Given the description of an element on the screen output the (x, y) to click on. 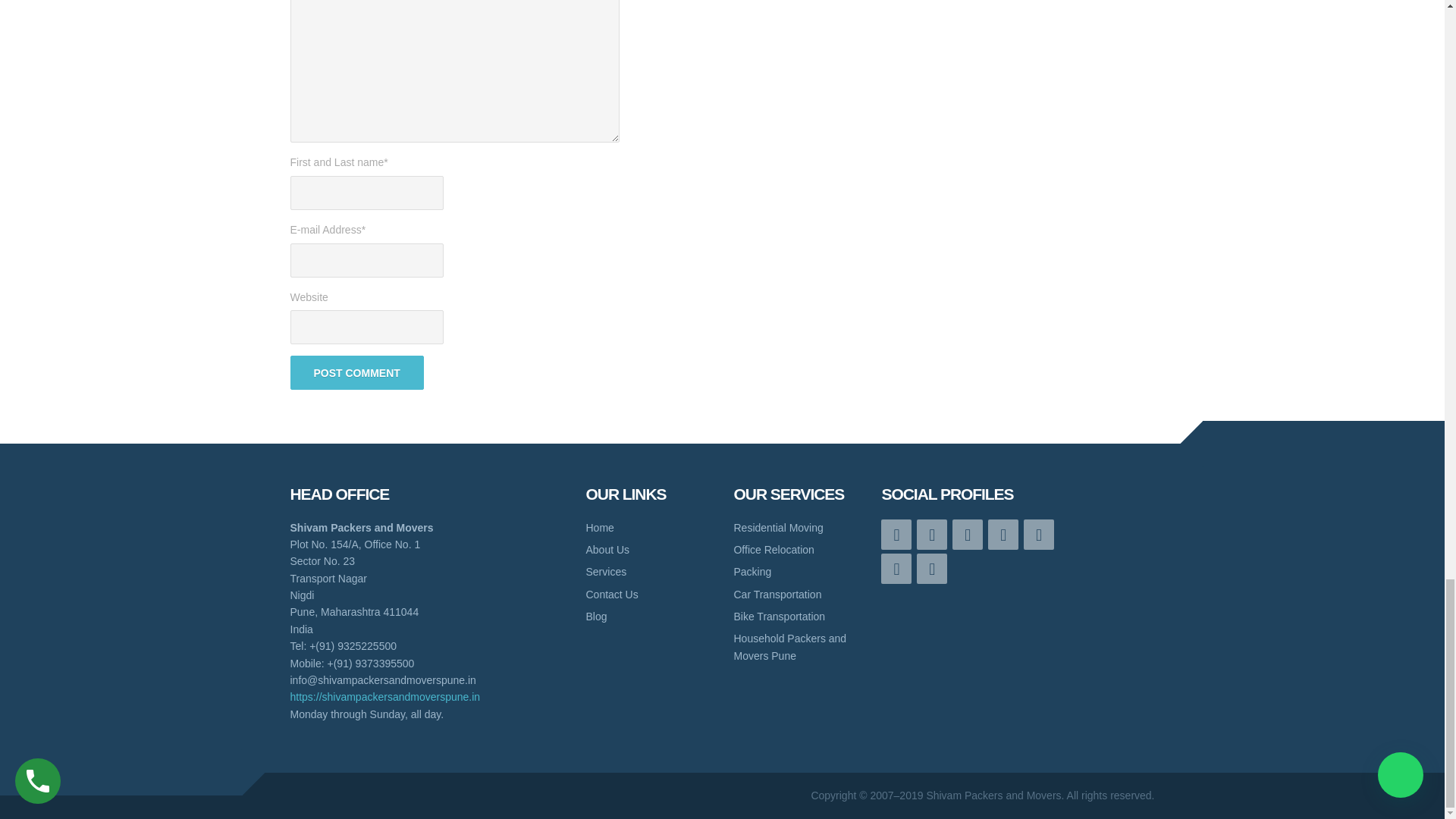
Post Comment (356, 372)
Post Comment (356, 372)
